Given the description of an element on the screen output the (x, y) to click on. 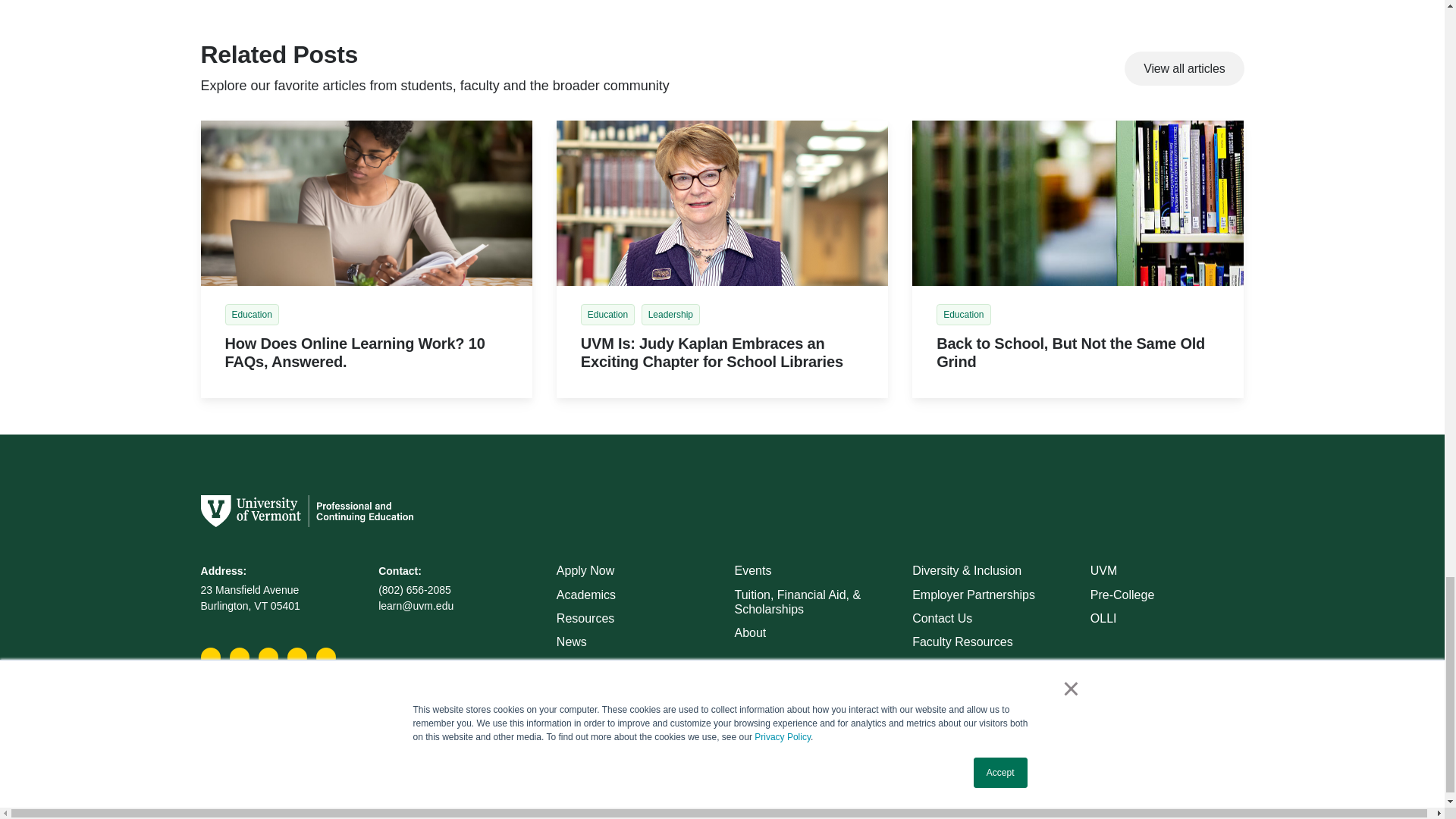
Judy Kaplan - UVM Professional and Continuing Education (722, 203)
 - UVM Professional and Continuing Education (1077, 203)
